Given the description of an element on the screen output the (x, y) to click on. 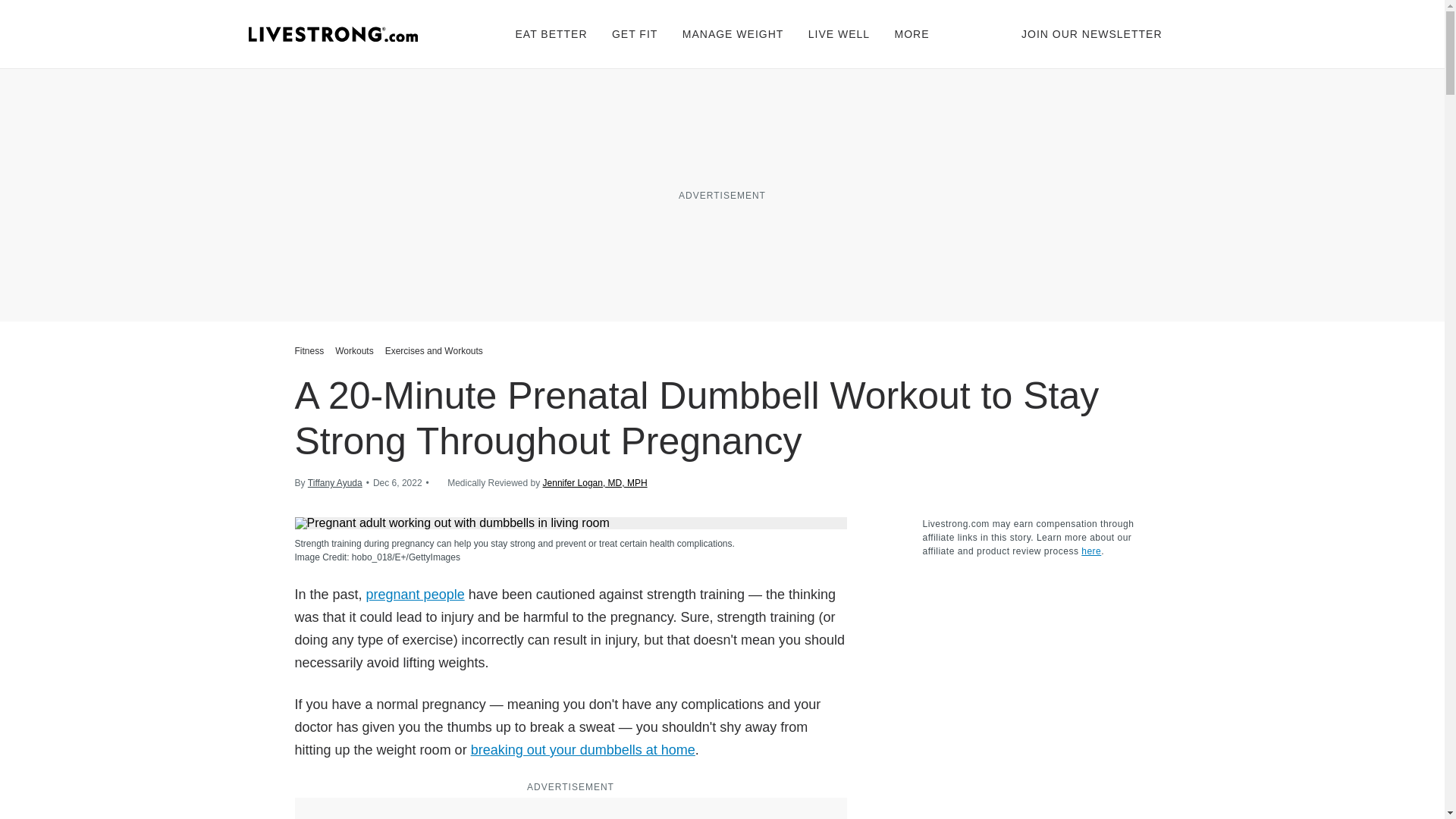
Fitness (310, 350)
pregnant people (415, 594)
Exercises and Workouts (433, 350)
LIVE WELL (838, 33)
Tiffany Ayuda (334, 482)
EAT BETTER (551, 33)
Learn more about our affiliate and product review process (1090, 551)
Workouts (354, 350)
MANAGE WEIGHT (733, 33)
Jennifer Logan, MD, MPH (595, 482)
